Given the description of an element on the screen output the (x, y) to click on. 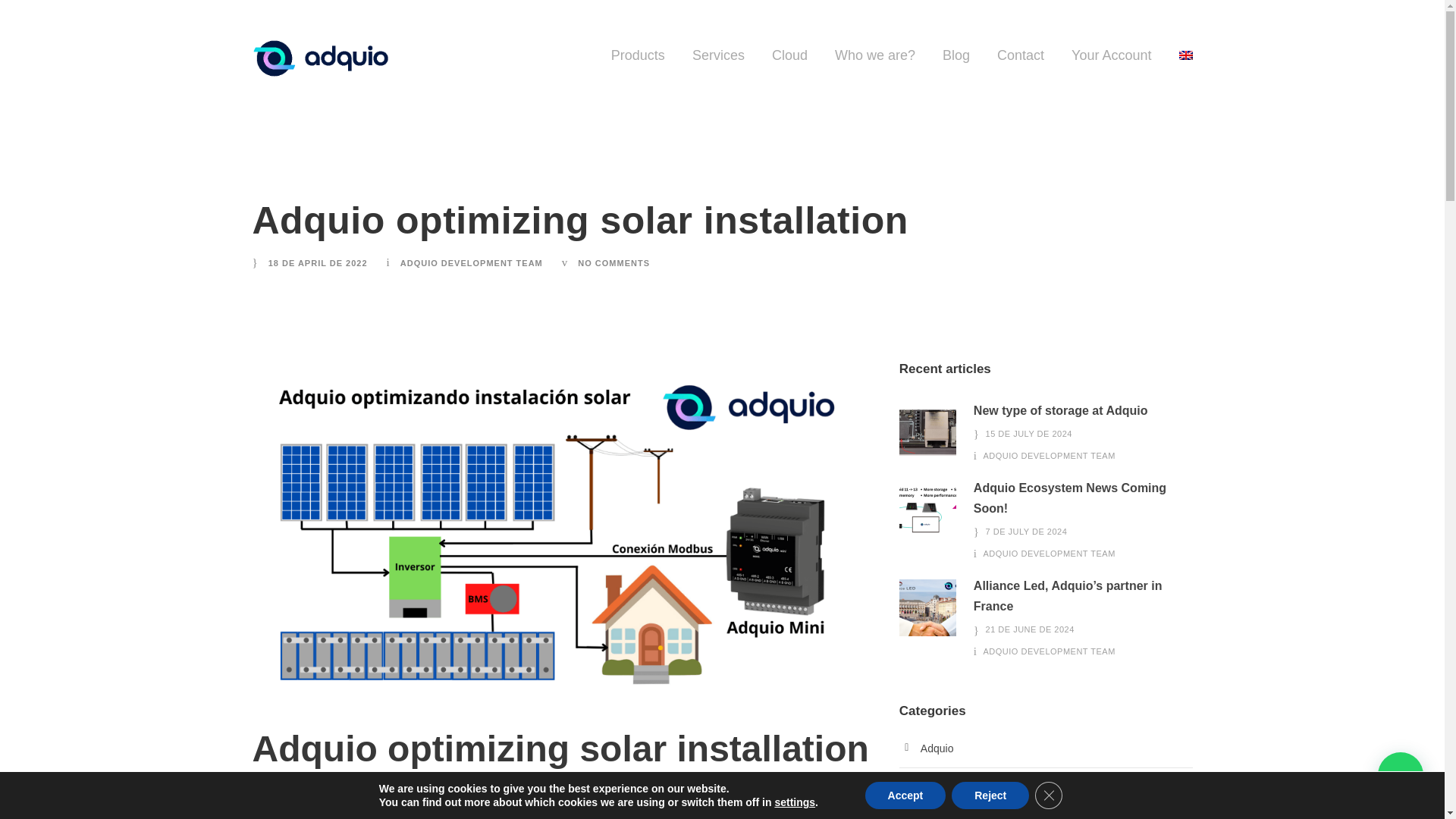
Posts by Adquio Development Team (1049, 552)
Posts by Adquio Development Team (471, 262)
Posts by Adquio Development Team (1049, 455)
Untitled-2024-04-09-1349 (927, 432)
2 (927, 509)
